Given the description of an element on the screen output the (x, y) to click on. 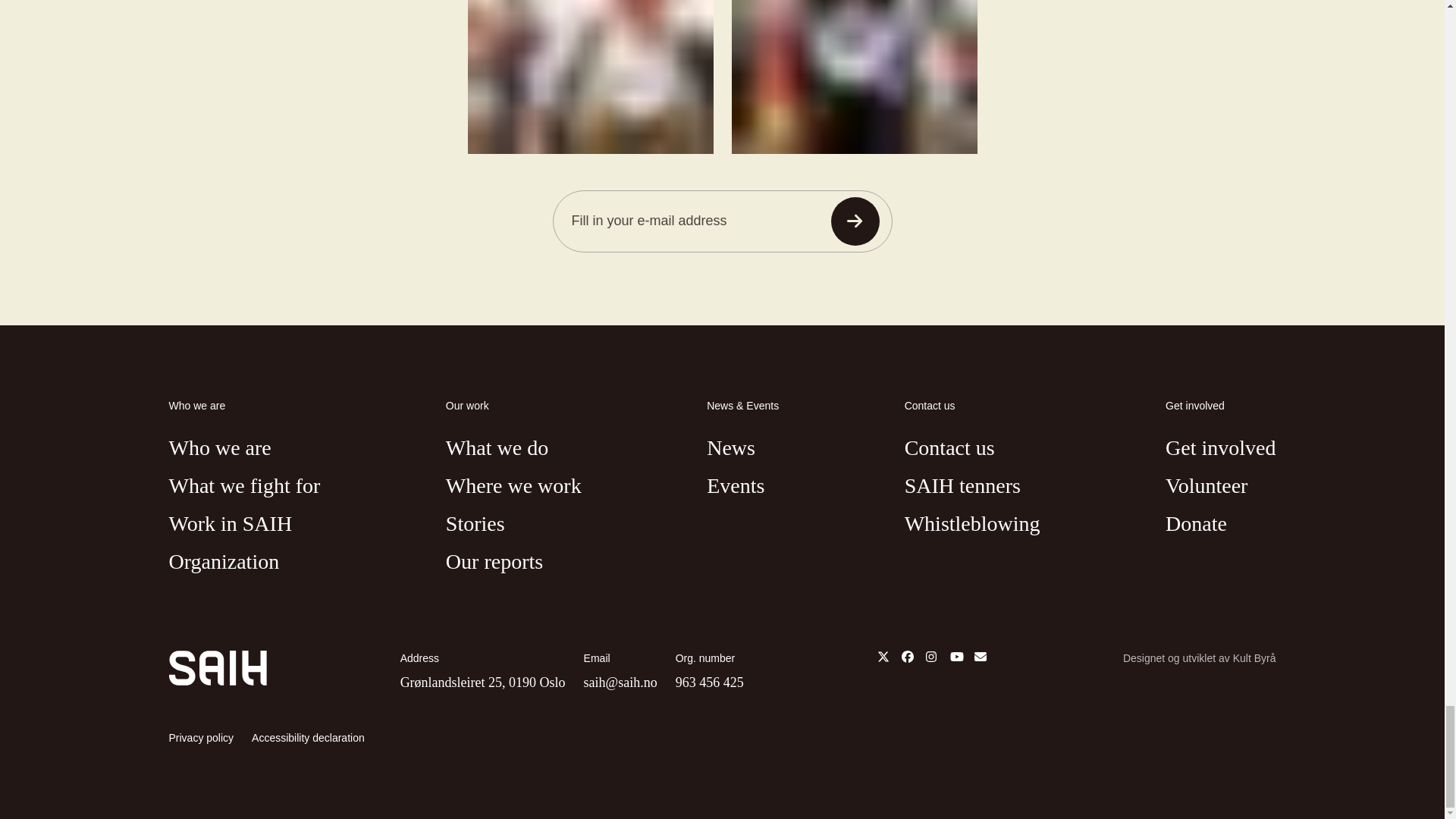
Organization (223, 561)
Where we work (512, 486)
Events (735, 486)
What we fight for (244, 486)
Work in SAIH (230, 524)
Contact us (949, 448)
Whistleblowing (972, 524)
SAIH tenners (962, 486)
Volunteer (1206, 486)
Who we are (219, 448)
Send inn (855, 221)
News (730, 448)
What we do (496, 448)
Stories (475, 524)
Get involved (1220, 448)
